Given the description of an element on the screen output the (x, y) to click on. 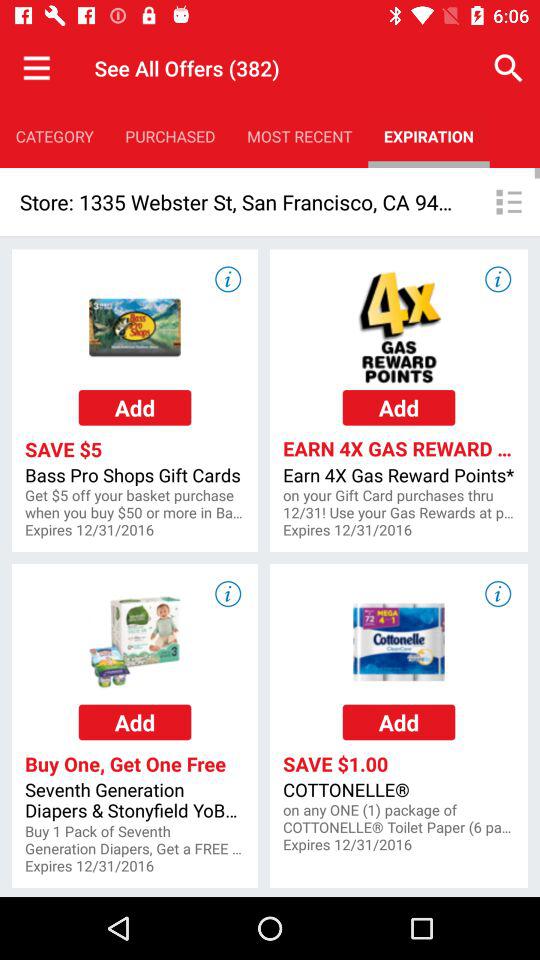
scroll to the save $5 icon (134, 449)
